Given the description of an element on the screen output the (x, y) to click on. 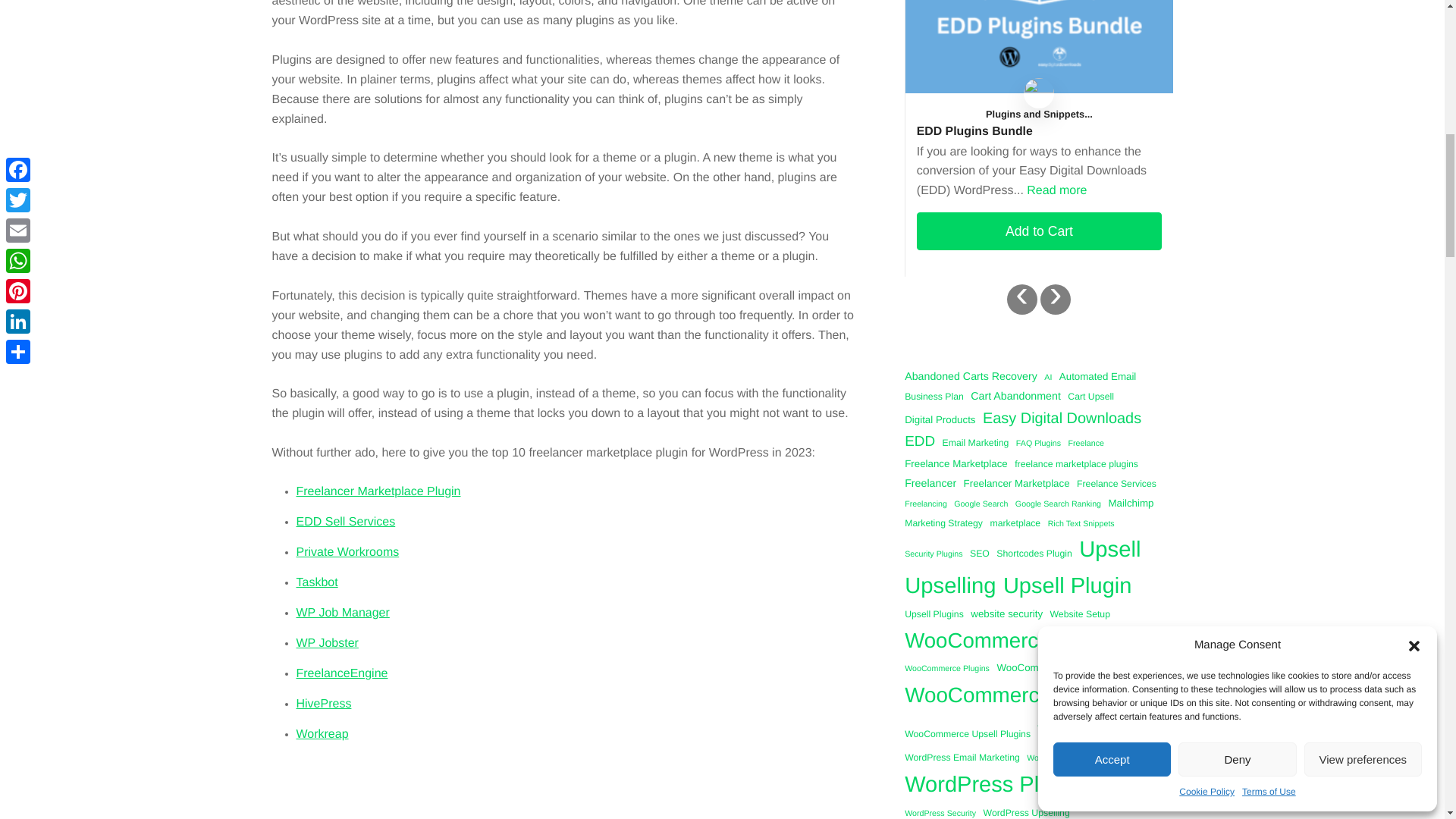
EDD Plugins Bundle (1039, 131)
